Given the description of an element on the screen output the (x, y) to click on. 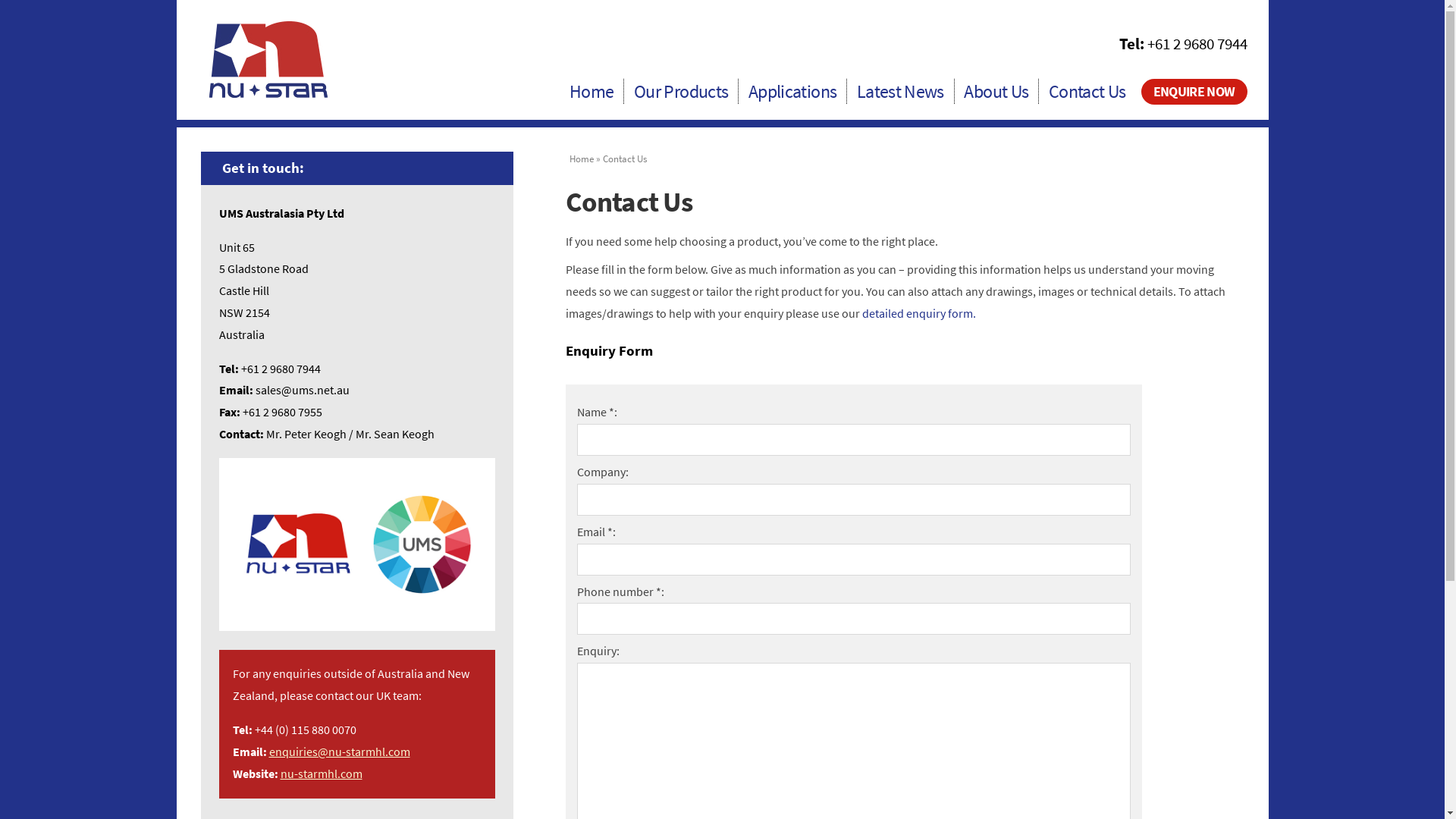
About Us Element type: text (995, 93)
Home Element type: text (581, 158)
Applications Element type: text (792, 93)
Contact Us Element type: text (1087, 93)
Home Element type: text (591, 93)
enquiries@nu-starmhl.com Element type: text (338, 751)
Latest News Element type: text (900, 93)
detailed enquiry form. Element type: text (918, 313)
+61 2 9680 7944 Element type: text (1196, 43)
sales@ums.net.au Element type: text (301, 390)
Our Products Element type: text (680, 93)
ENQUIRE NOW Element type: text (1194, 91)
nu-starmhl.com Element type: text (321, 773)
